Given the description of an element on the screen output the (x, y) to click on. 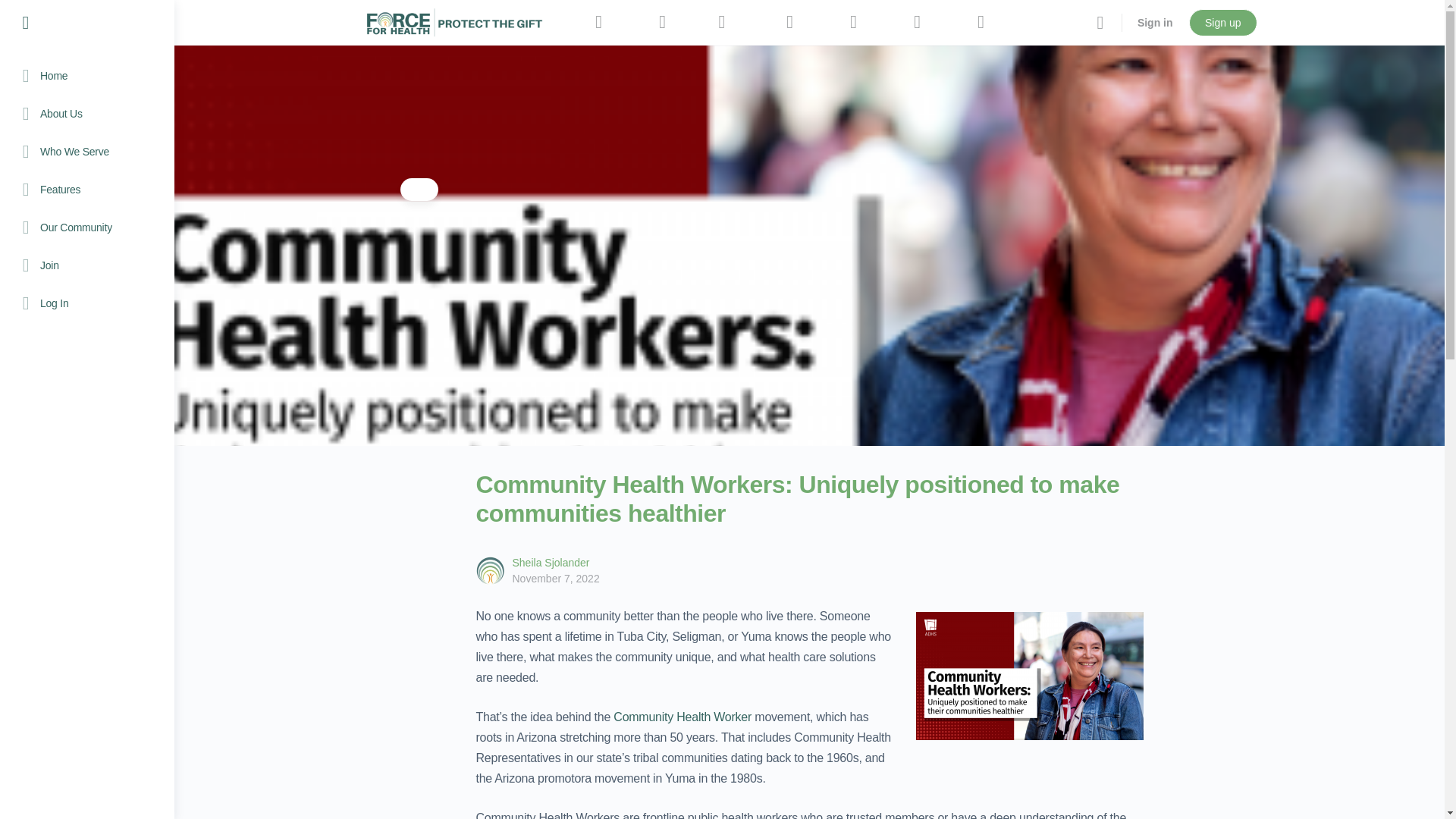
Our Community (87, 227)
Join (87, 265)
Features (87, 189)
Who We Serve (87, 151)
Log In (87, 303)
About Us (87, 113)
Home (87, 75)
